Given the description of an element on the screen output the (x, y) to click on. 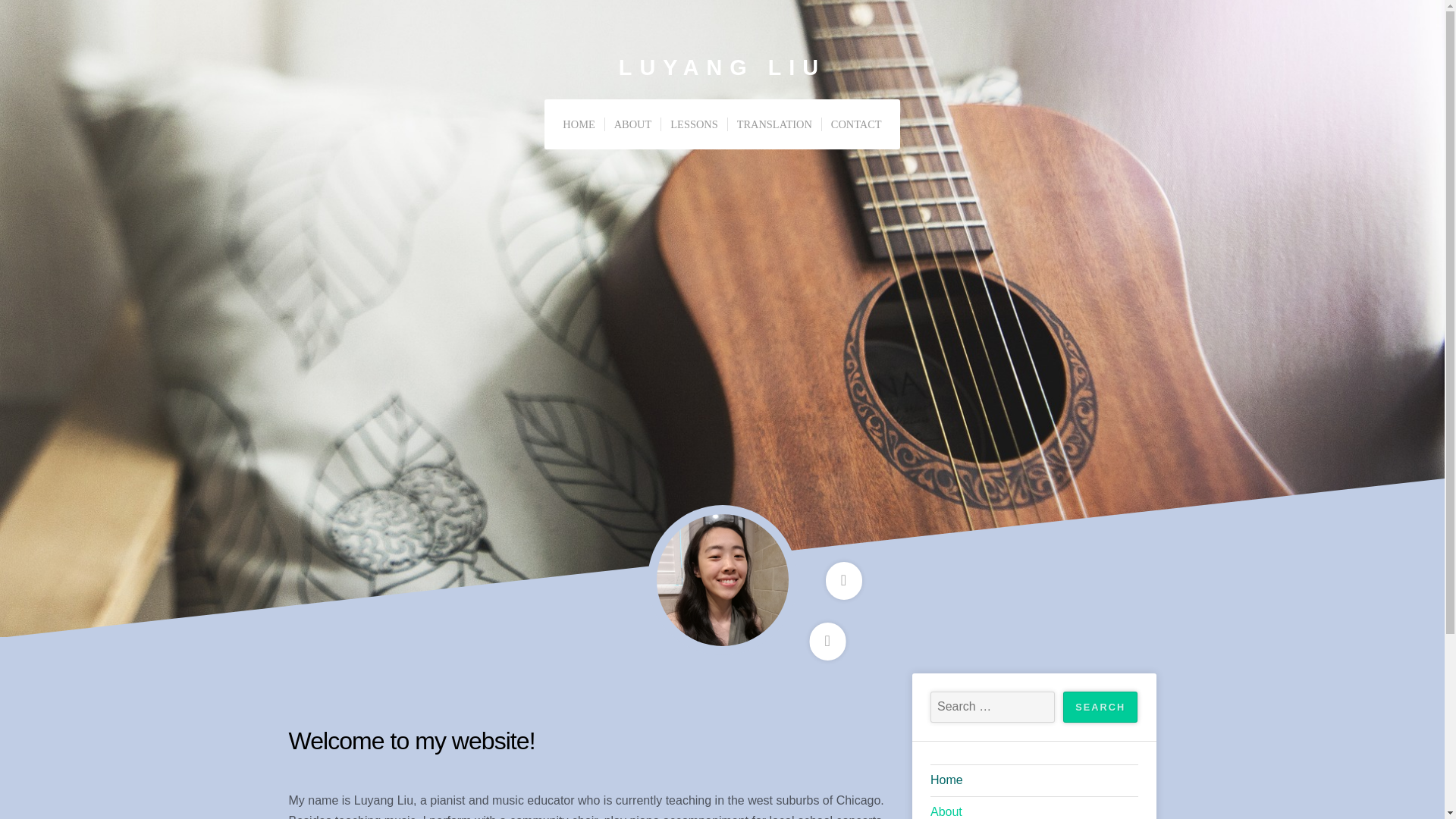
TRANSLATION (773, 124)
HOME (578, 124)
CONTACT (856, 124)
ABOUT (632, 124)
About (1034, 810)
Search (1099, 706)
Home (1034, 780)
LESSONS (693, 124)
Search (1099, 706)
LUYANG LIU (721, 67)
